Given the description of an element on the screen output the (x, y) to click on. 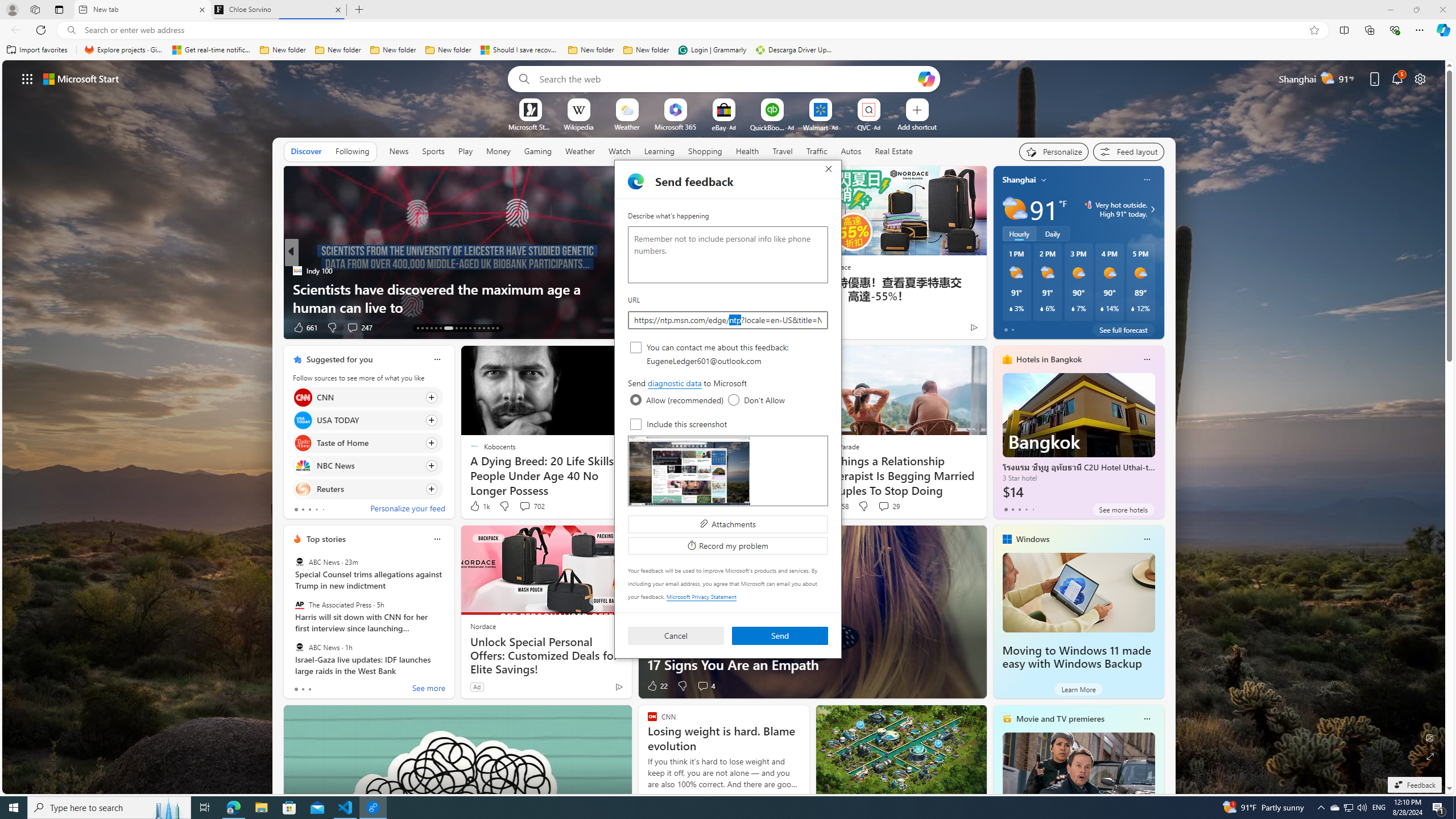
Click to follow source USA TODAY (367, 419)
Top stories (325, 538)
News (398, 151)
Click to follow source CNN (367, 397)
Movie and TV premieres (1060, 718)
View comments 247 Comment (352, 327)
AutomationID: tab-23 (470, 328)
Sports (432, 151)
Reuters (302, 488)
NBC News (302, 466)
